Given the description of an element on the screen output the (x, y) to click on. 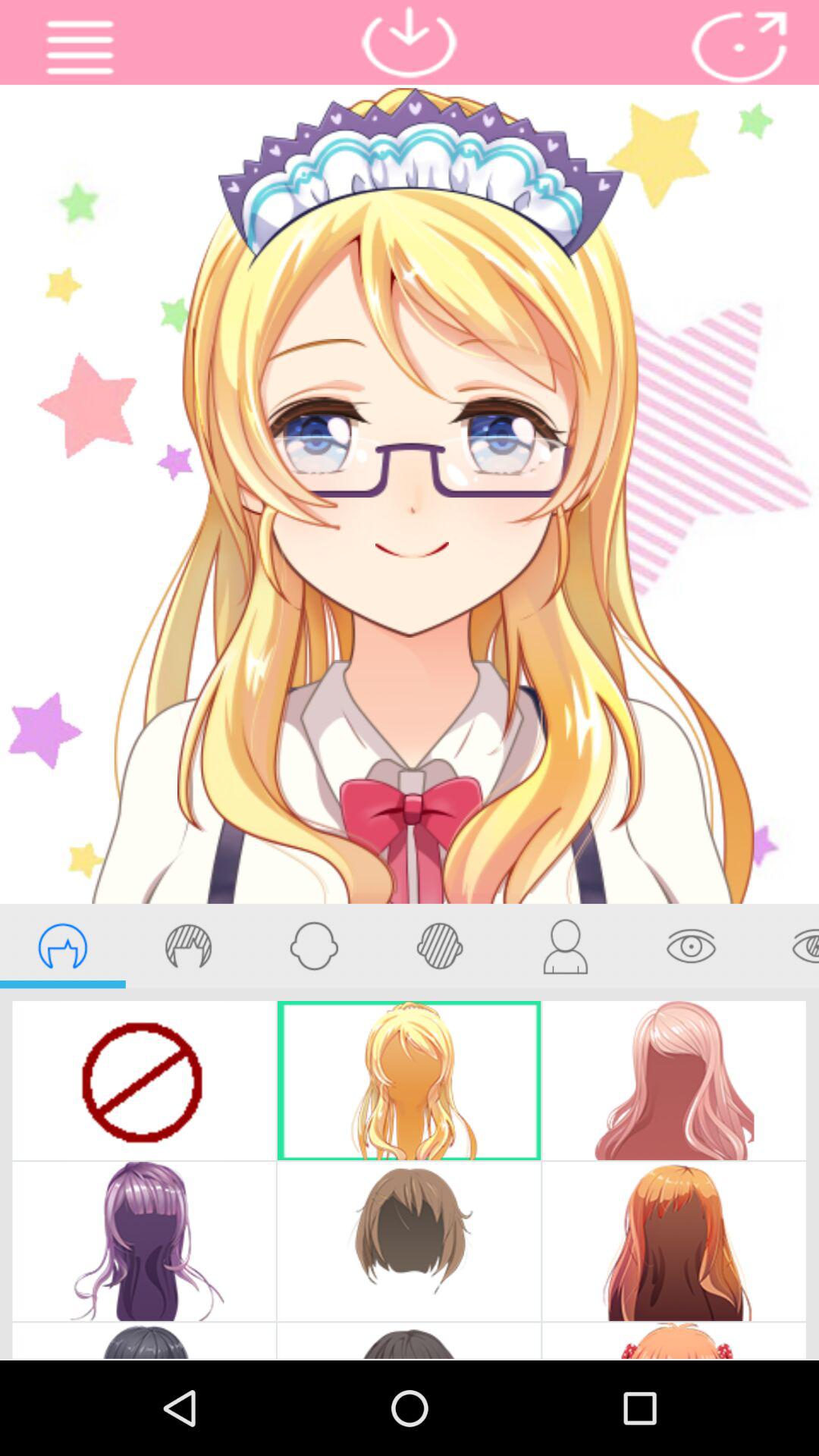
eye edit (691, 945)
